Given the description of an element on the screen output the (x, y) to click on. 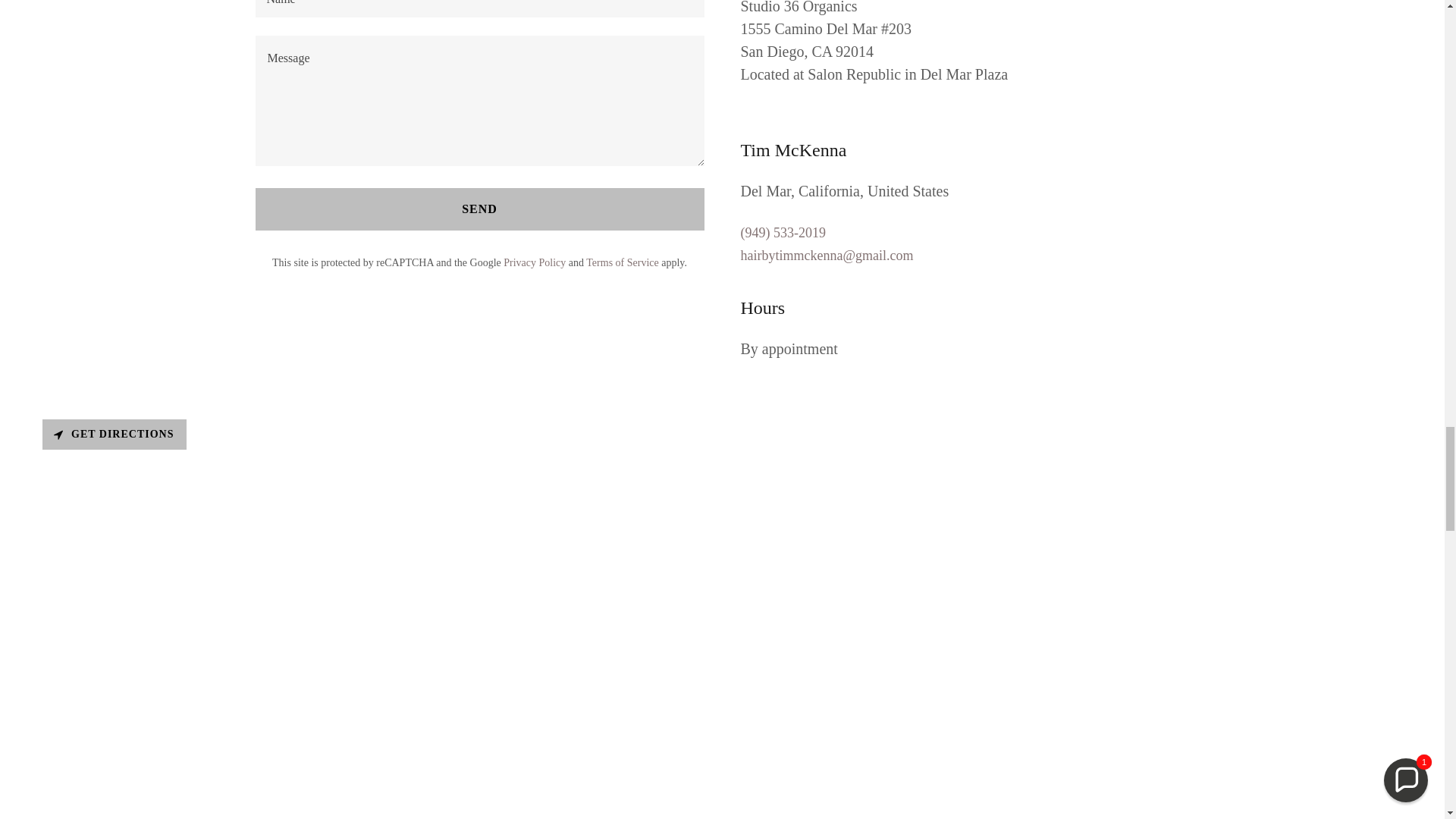
GET DIRECTIONS (114, 434)
SEND (478, 209)
Privacy Policy (534, 262)
Terms of Service (622, 262)
